Given the description of an element on the screen output the (x, y) to click on. 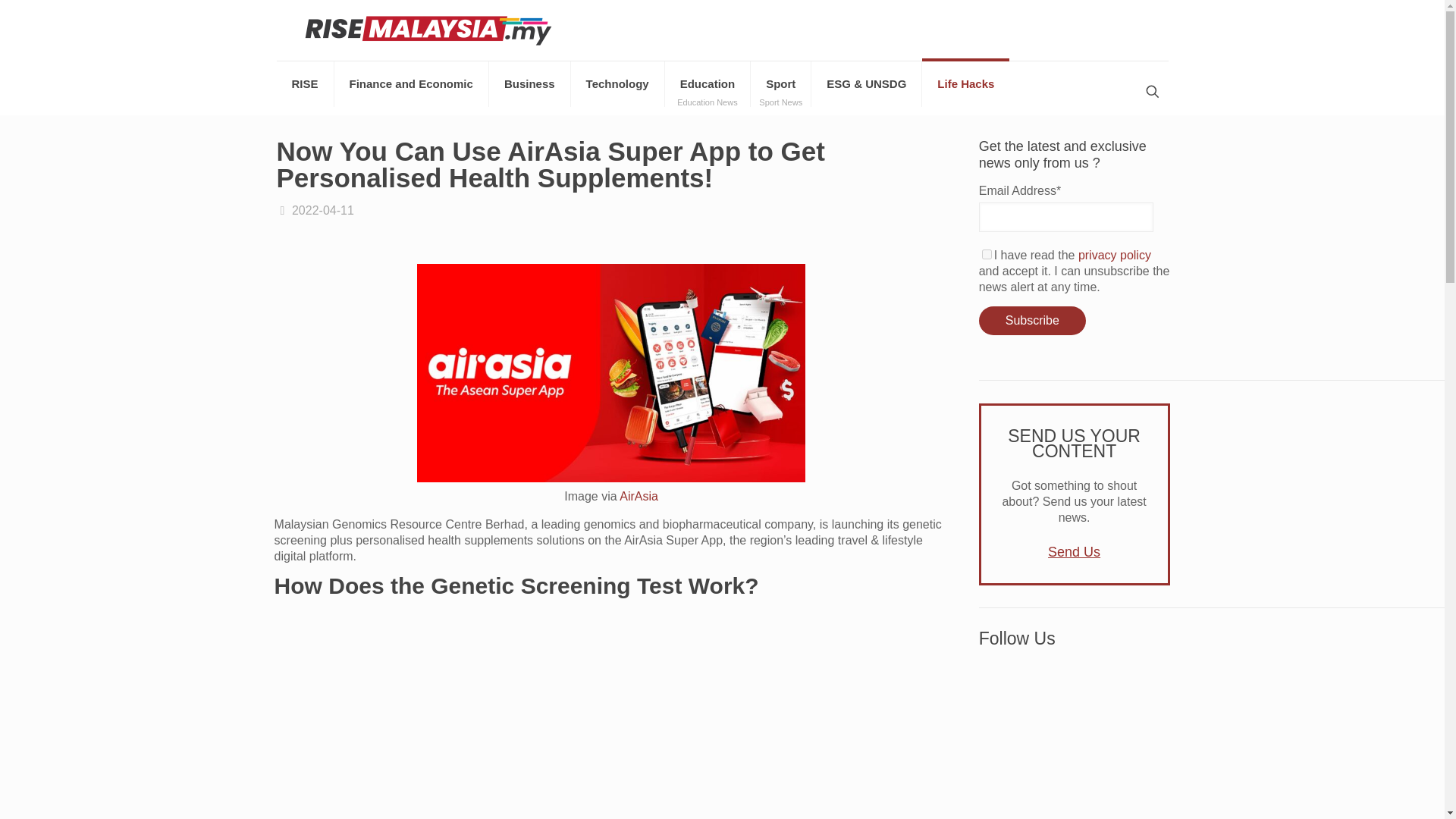
Finance and Economic (411, 84)
AirAsia (639, 495)
Life Hacks (965, 84)
on (986, 254)
Technology (617, 84)
Subscribe (1032, 320)
Business (708, 84)
YouTube video player (529, 84)
RISE (1074, 738)
